Given the description of an element on the screen output the (x, y) to click on. 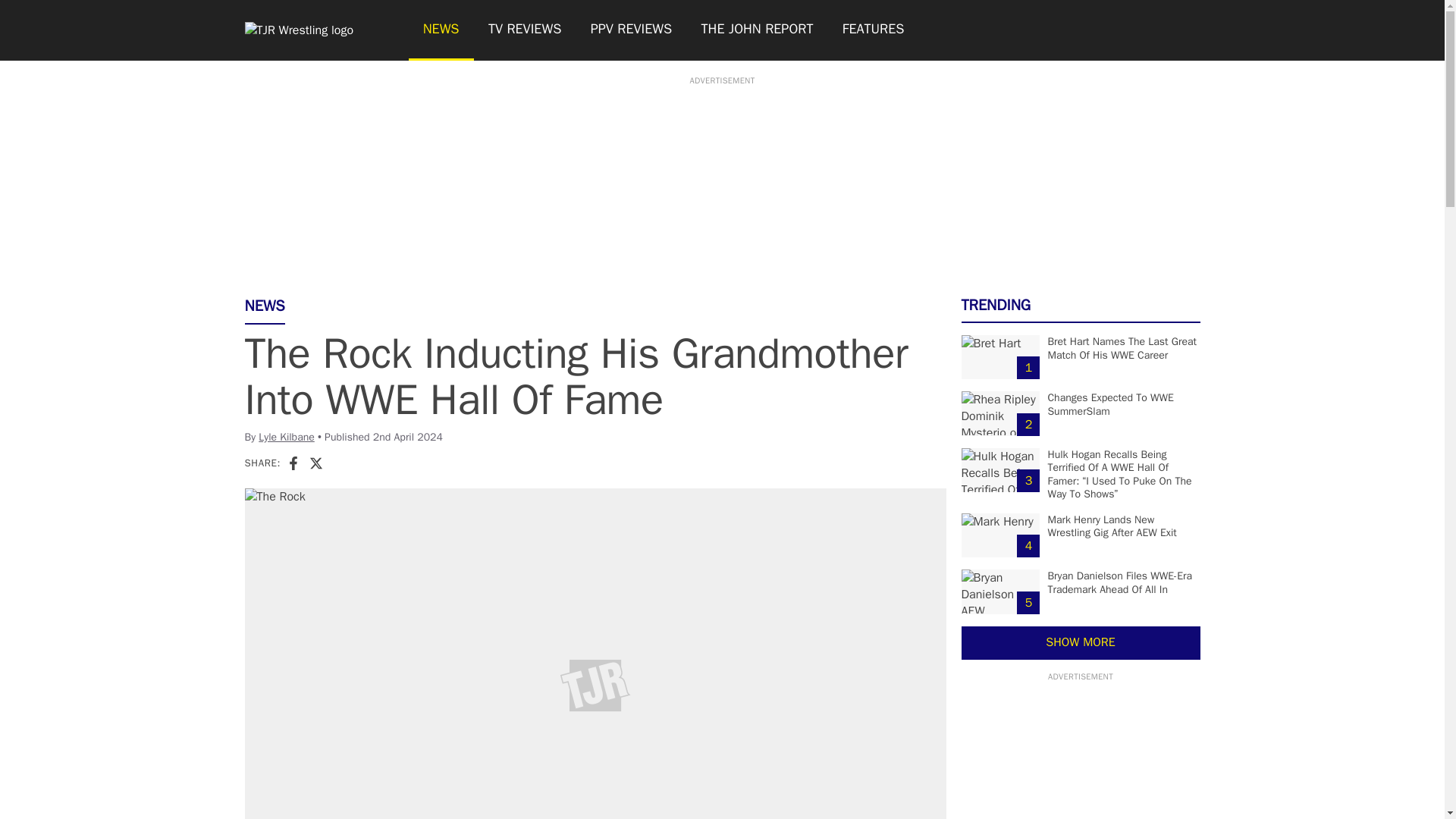
THE JOHN REPORT (756, 30)
FEATURES (873, 30)
Facebook (292, 463)
PPV REVIEWS (631, 30)
Lyle Kilbane (286, 436)
Facebook (292, 462)
X (315, 463)
X (315, 462)
NEWS (440, 30)
TV REVIEWS (525, 30)
